Given the description of an element on the screen output the (x, y) to click on. 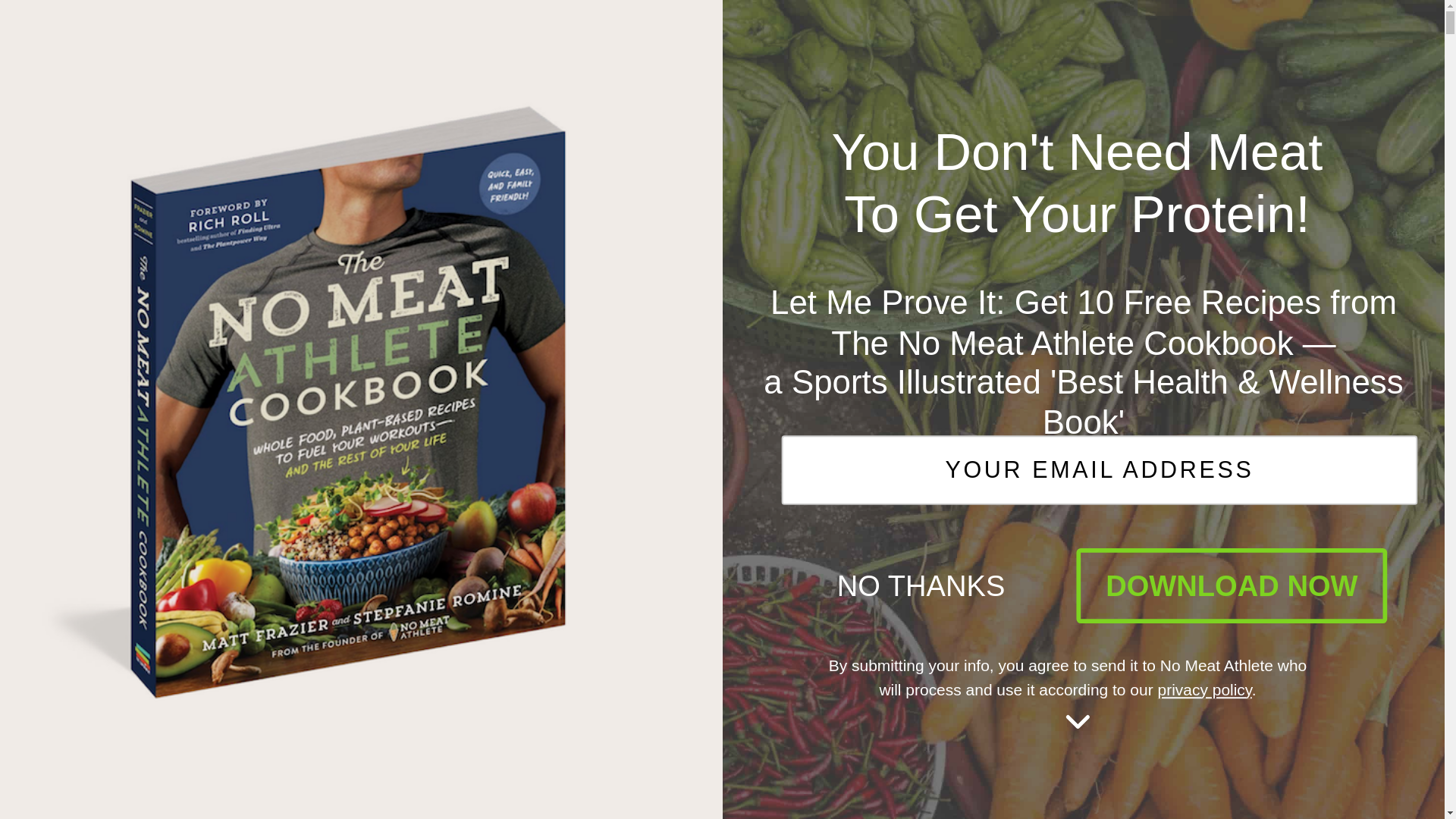
privacy policy (1182, 684)
DOWNLOAD NOW (1159, 570)
NO THANKS (846, 567)
